Given the description of an element on the screen output the (x, y) to click on. 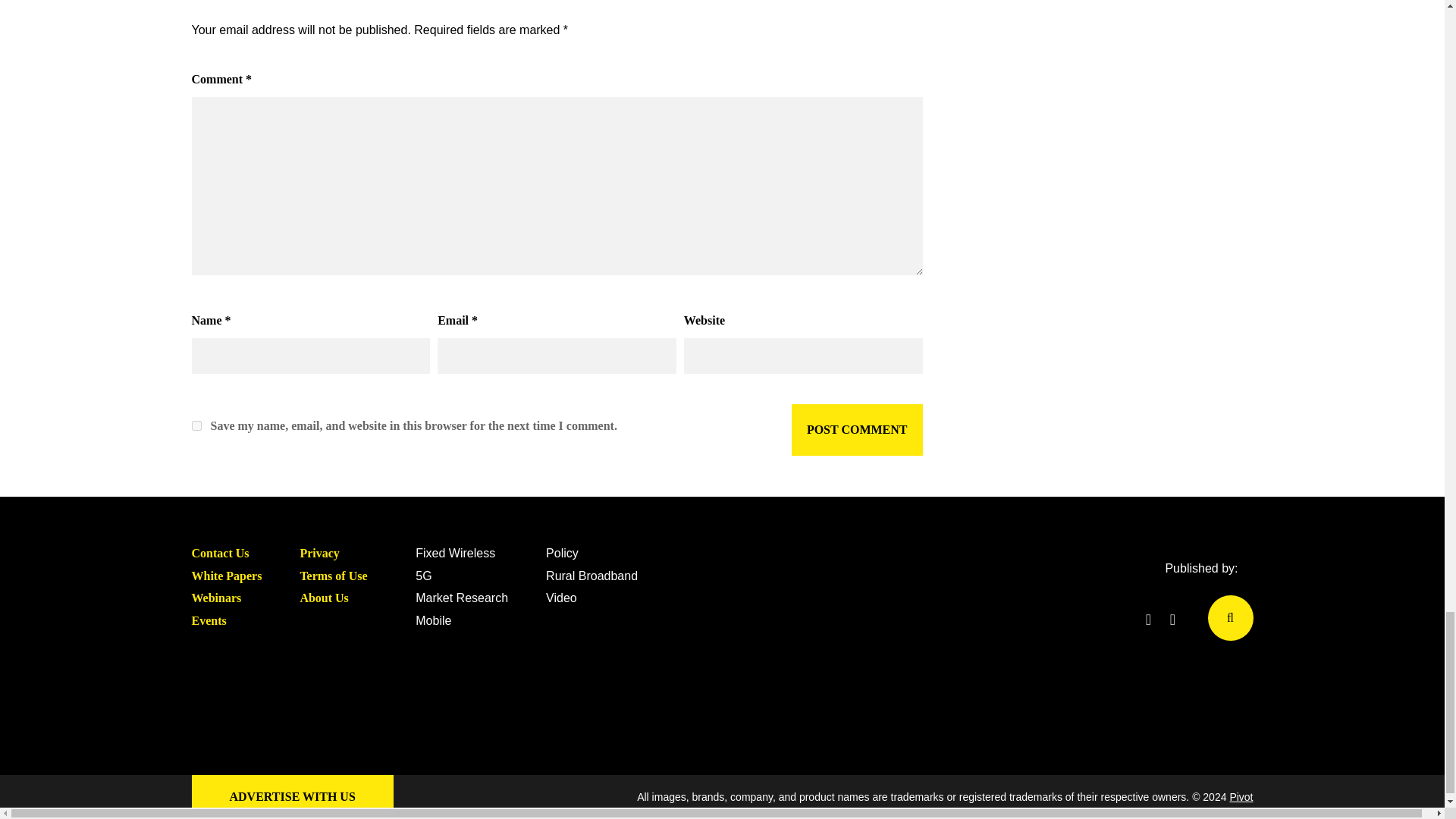
yes (195, 425)
Post Comment (857, 429)
